Given the description of an element on the screen output the (x, y) to click on. 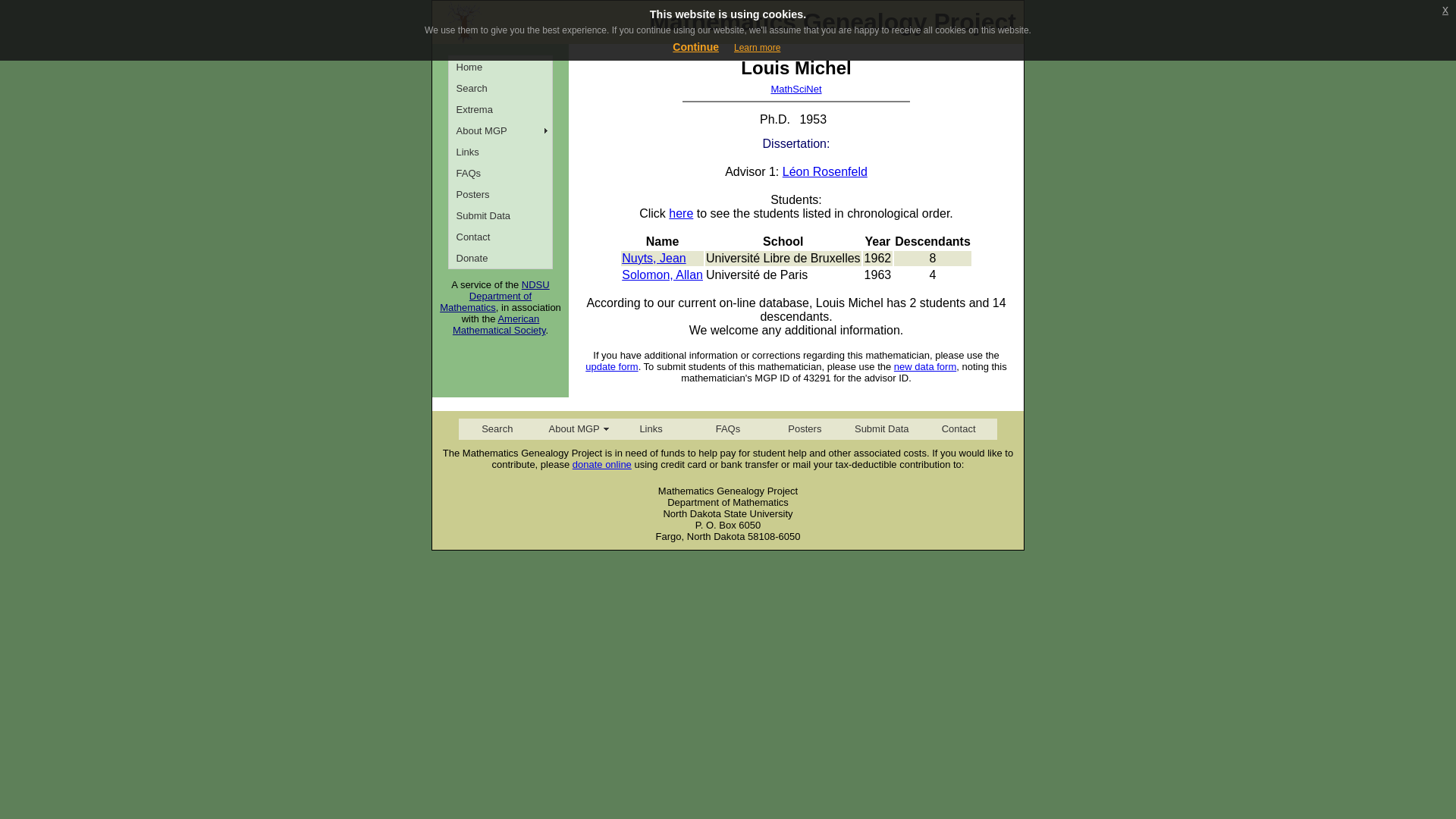
About MGP (573, 428)
Contact (500, 236)
FAQs (726, 428)
new data form (924, 366)
FAQs (500, 172)
Posters (805, 428)
here (680, 213)
Posters (500, 193)
update form (611, 366)
Donate (500, 257)
NDSU (535, 284)
Search (500, 87)
Search (496, 428)
Submit Data (500, 215)
Frequently Asked Questions (500, 172)
